Given the description of an element on the screen output the (x, y) to click on. 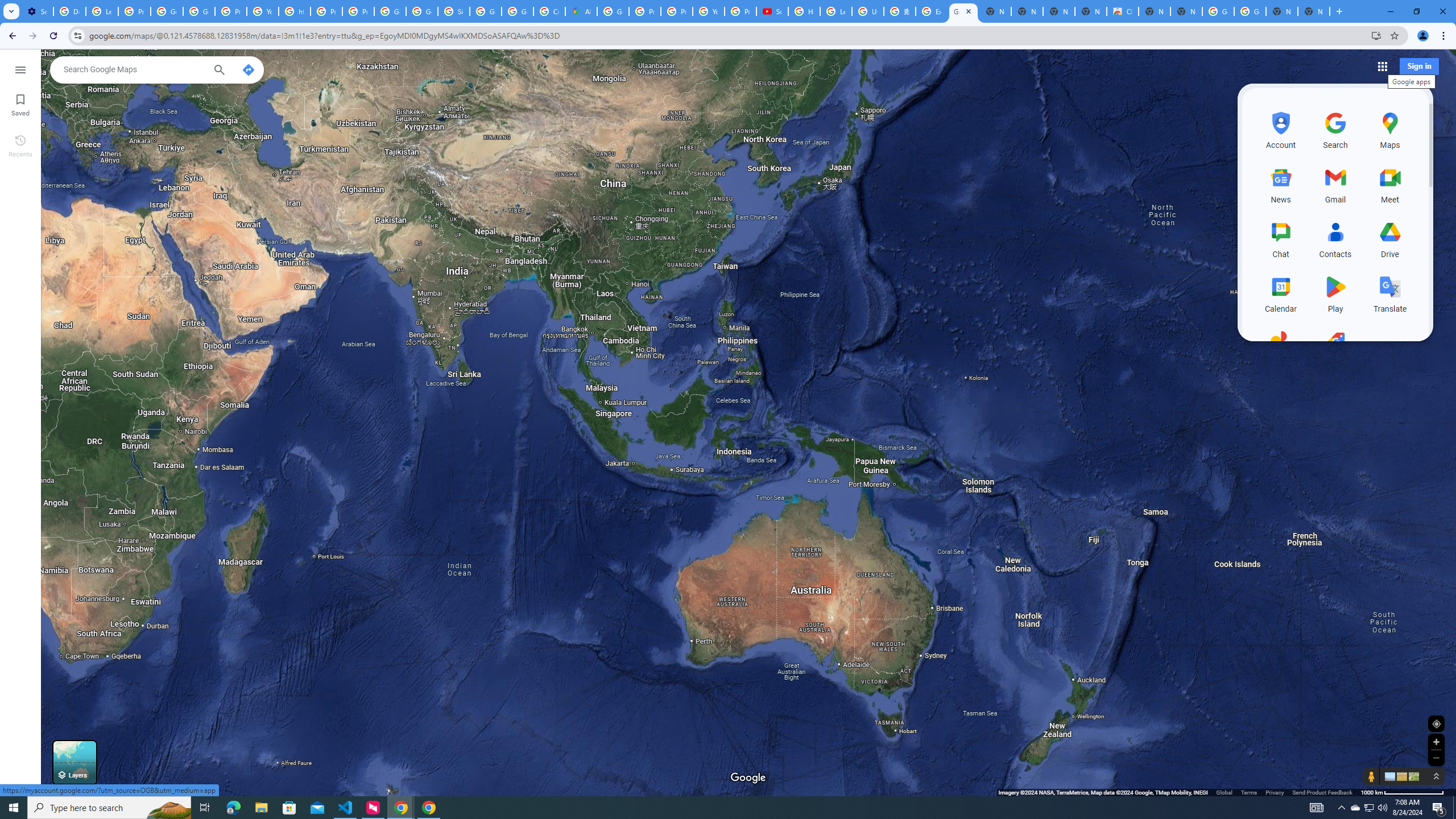
Privacy Help Center - Policies Help (644, 11)
https://scholar.google.com/ (294, 11)
Saved (20, 104)
Google Images (1217, 11)
Privacy (1274, 792)
Directions (247, 69)
